Given the description of an element on the screen output the (x, y) to click on. 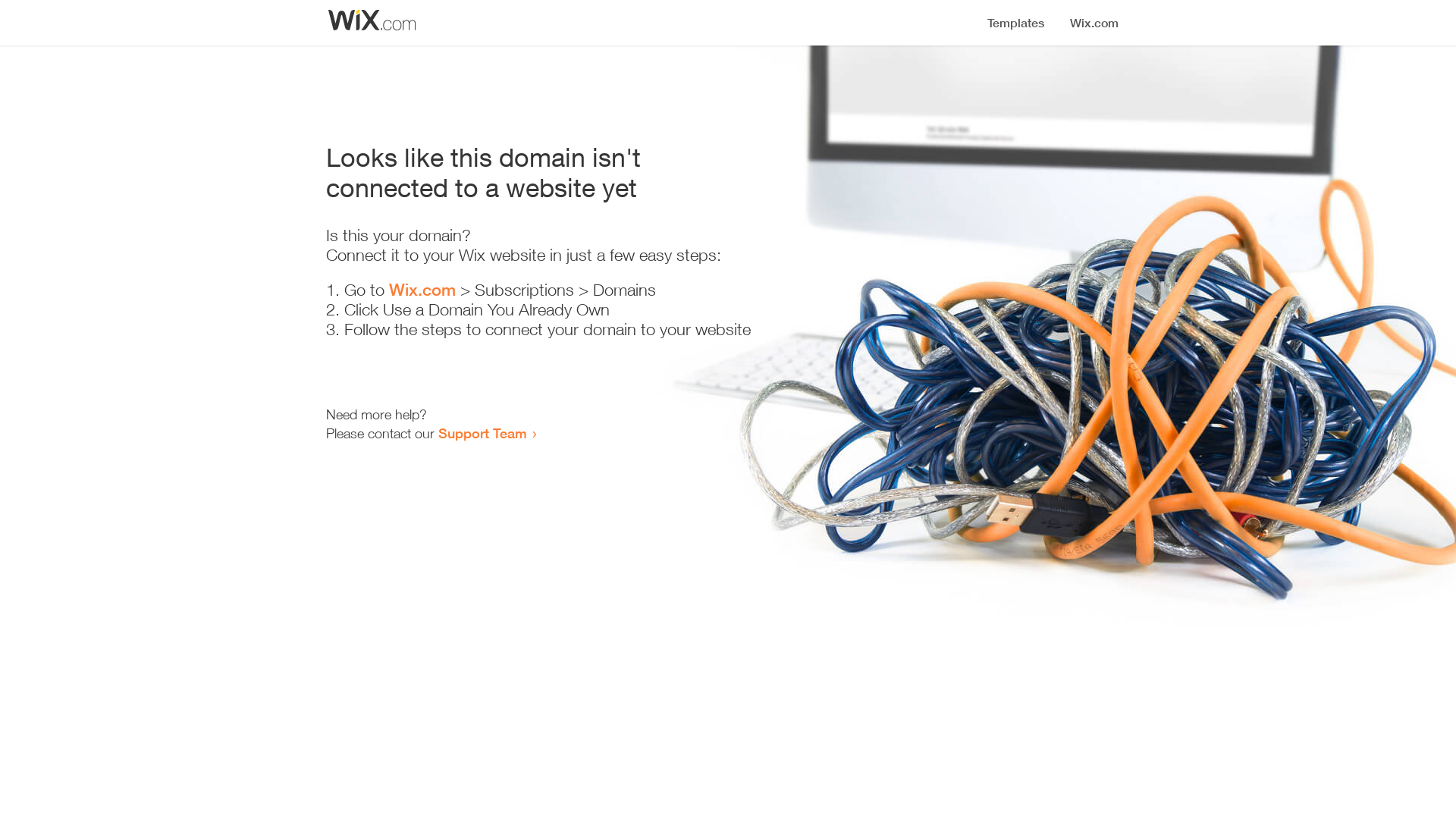
Wix.com Element type: text (422, 289)
Support Team Element type: text (482, 432)
